Given the description of an element on the screen output the (x, y) to click on. 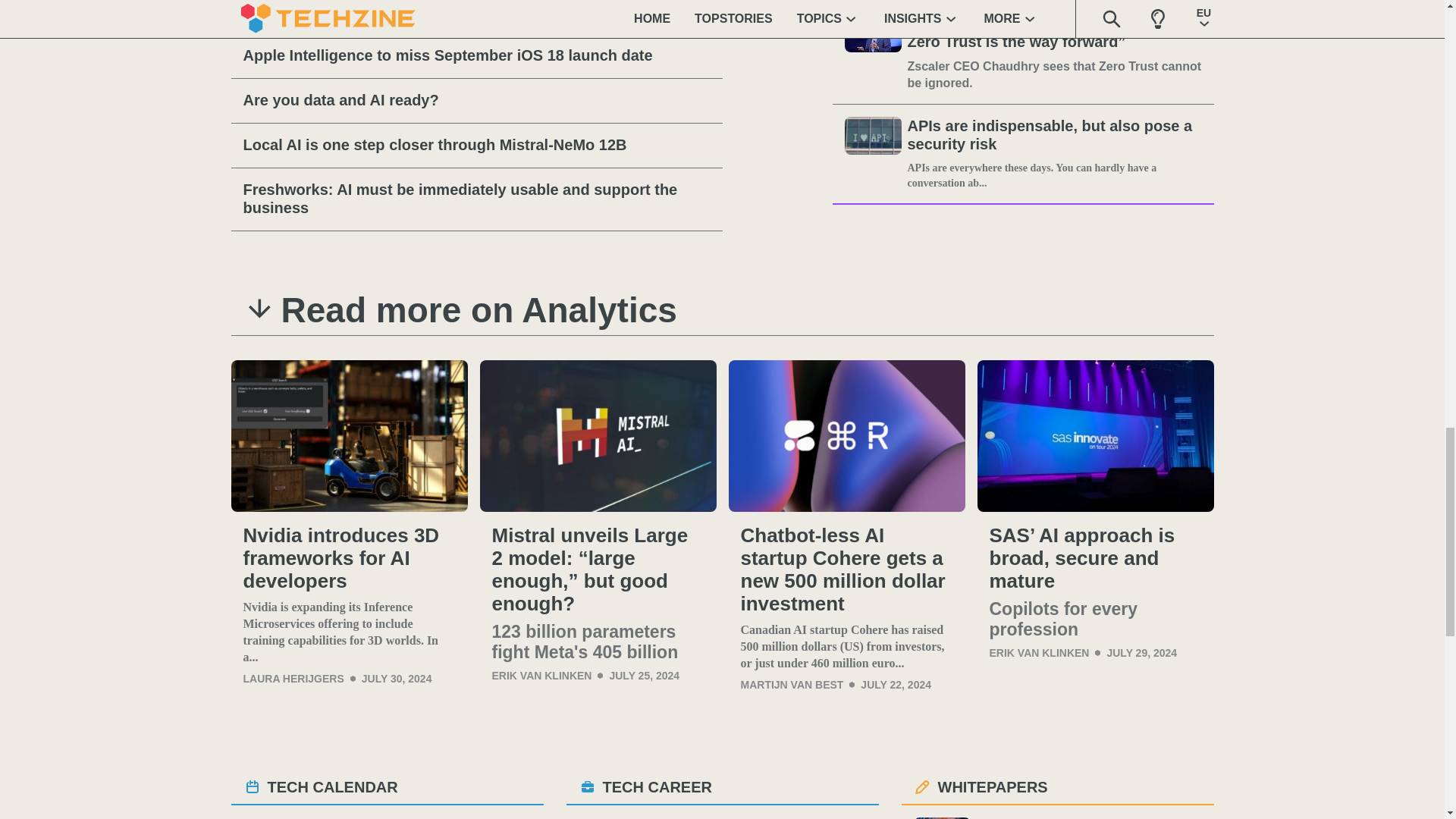
Nvidia introduces 3D frameworks for AI developers (348, 435)
APIs are indispensable, but also pose a security risk (1054, 135)
Are you data and AI ready? (476, 100)
Nvidia introduces 3D frameworks for AI developers (348, 558)
Local AI is one step closer through Mistral-NeMo 12B (476, 145)
Apple Intelligence to miss September iOS 18 launch date (476, 55)
